Given the description of an element on the screen output the (x, y) to click on. 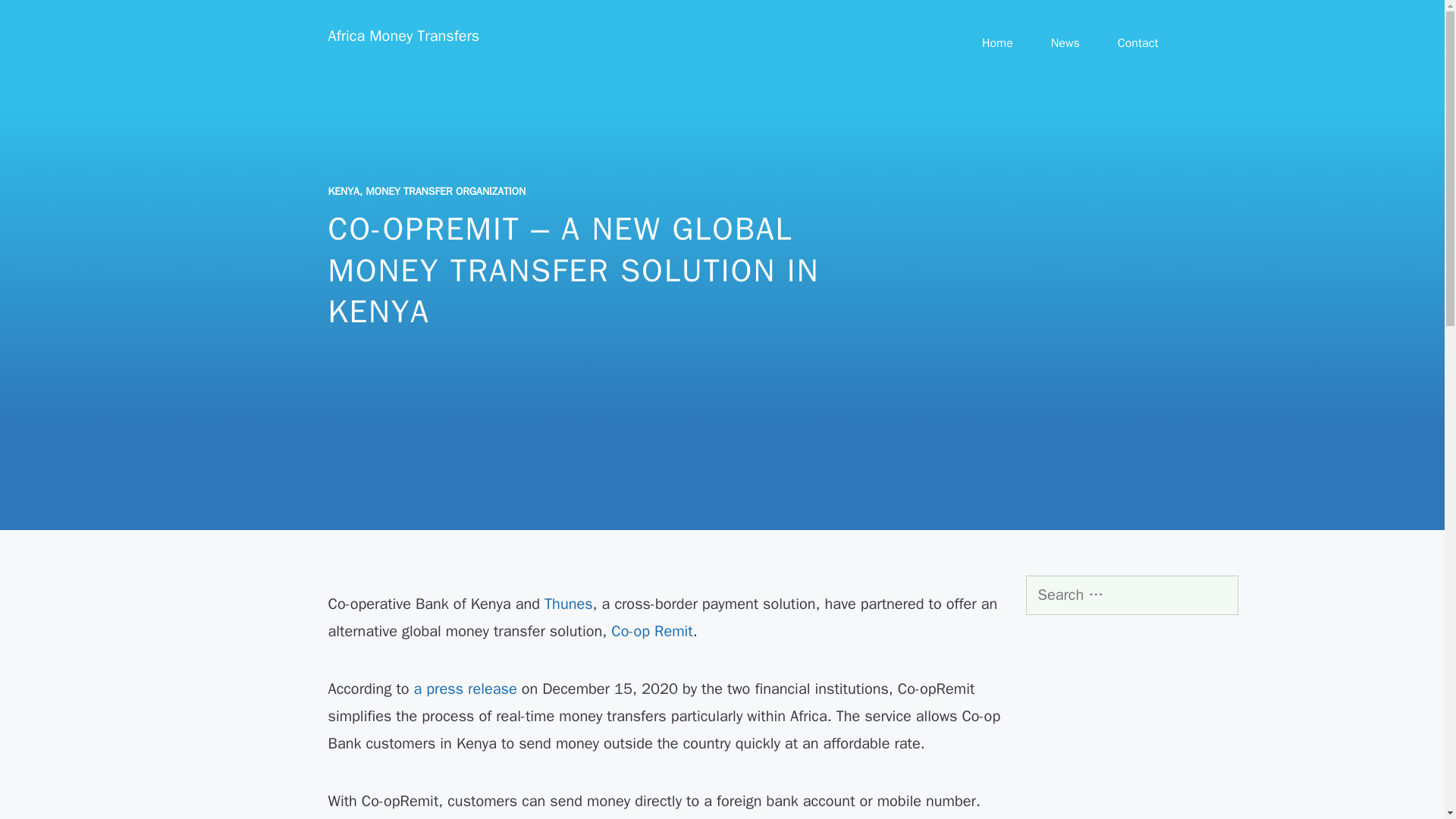
a press release (464, 688)
Co-op Remit (652, 630)
KENYA (342, 191)
Search (35, 18)
Contact (1138, 42)
Home (997, 42)
News (1065, 42)
MONEY TRANSFER ORGANIZATION (445, 191)
Thunes (568, 603)
Search for: (1131, 595)
